Given the description of an element on the screen output the (x, y) to click on. 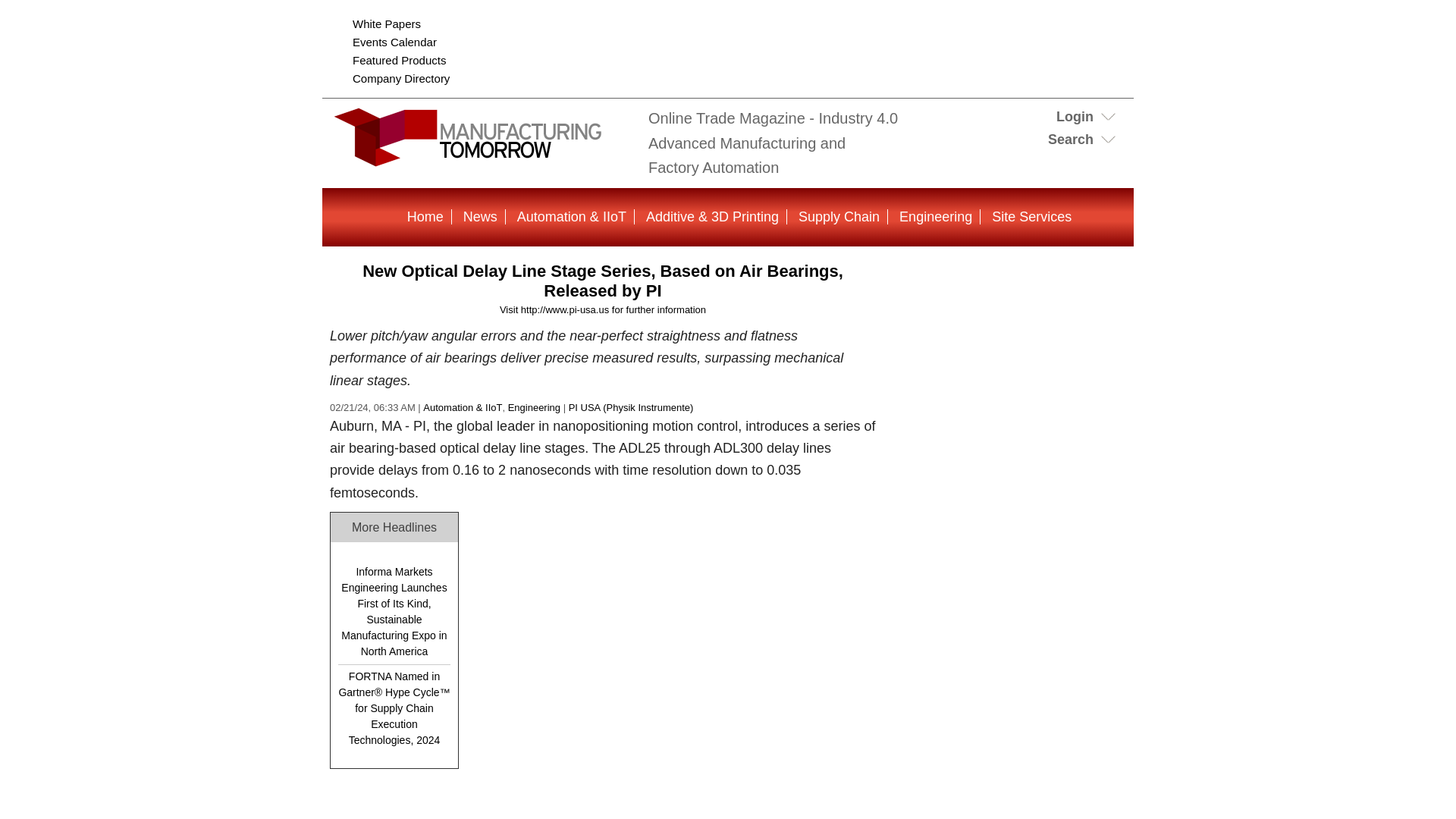
Supply Chain (838, 217)
Engineering (935, 217)
News (480, 217)
White Papers (386, 23)
Featured Products (398, 60)
Company Directory (400, 78)
Events Calendar (394, 42)
ManufacturingTomorrow (481, 159)
Engineering (534, 407)
